Given the description of an element on the screen output the (x, y) to click on. 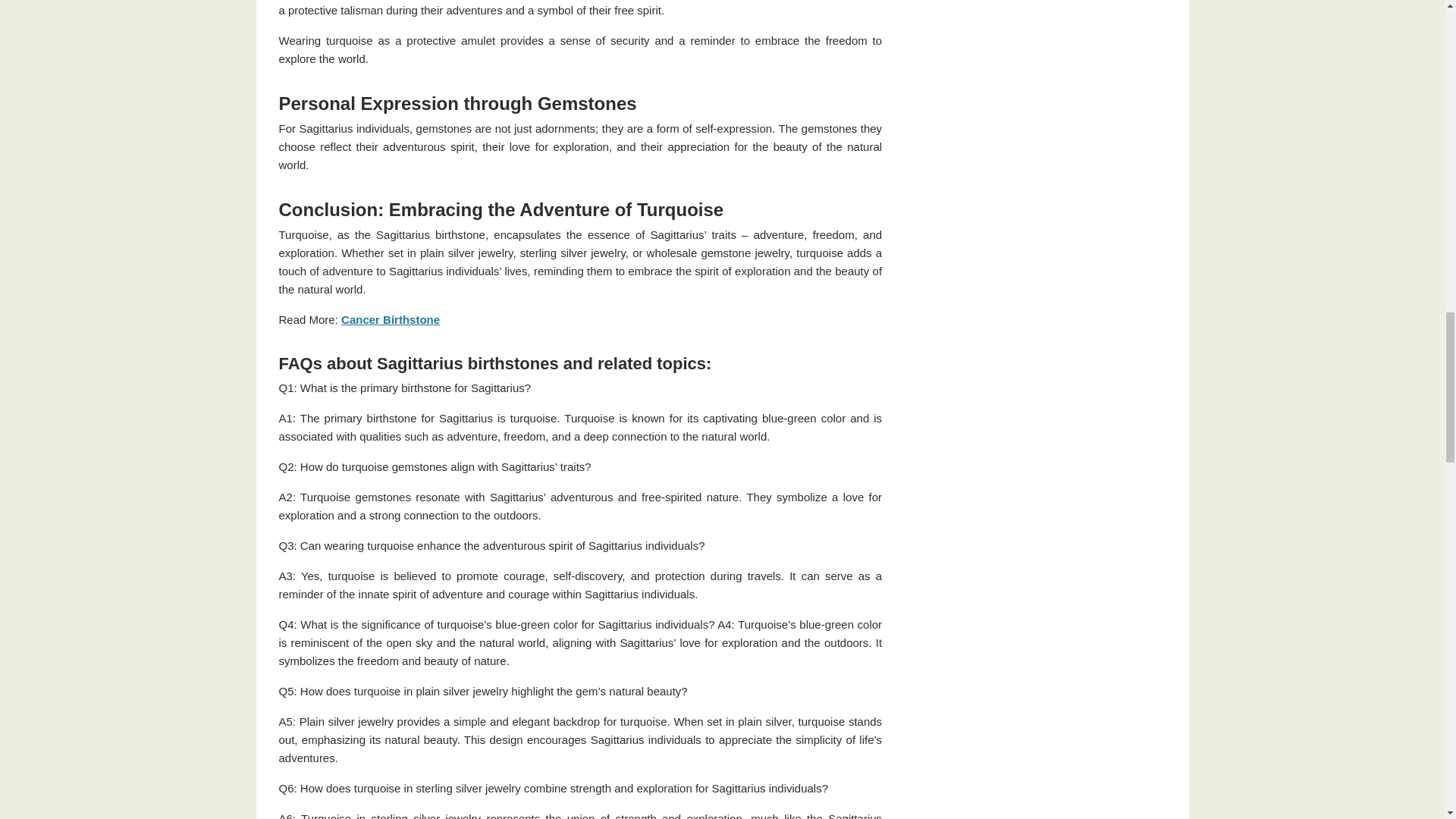
Cancer Birthstone (389, 318)
